Given the description of an element on the screen output the (x, y) to click on. 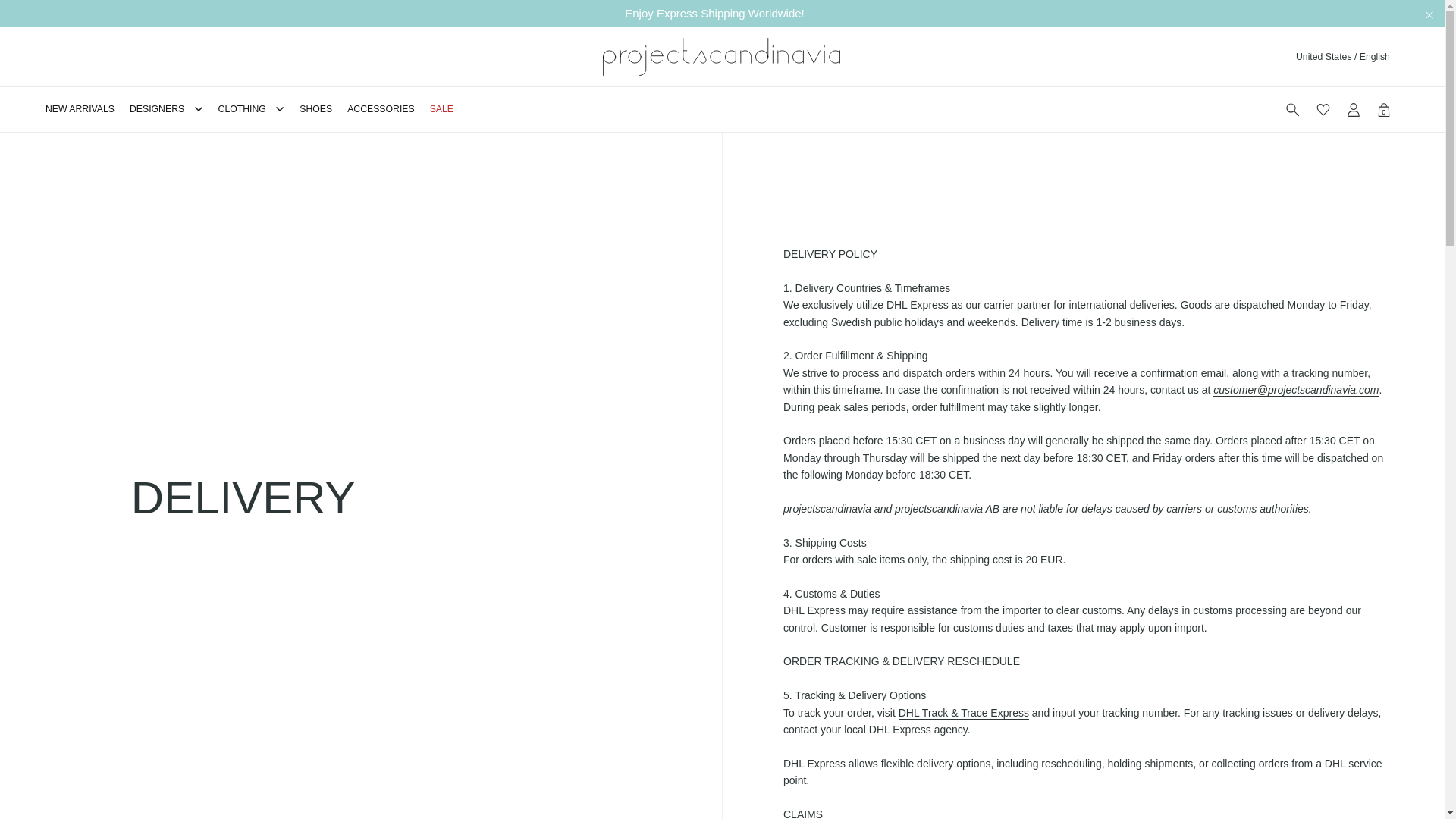
NEW ARRIVALS (87, 109)
SHOES (323, 109)
DESIGNERS (173, 109)
SALE (448, 109)
Customer Care (1295, 390)
ACCESSORIES (388, 109)
Enjoy Express Shipping Worldwide! (722, 13)
CLOTHING (258, 109)
Open search (1292, 109)
Wishlist (1322, 109)
Login (1353, 109)
Open cart (1383, 109)
